Given the description of an element on the screen output the (x, y) to click on. 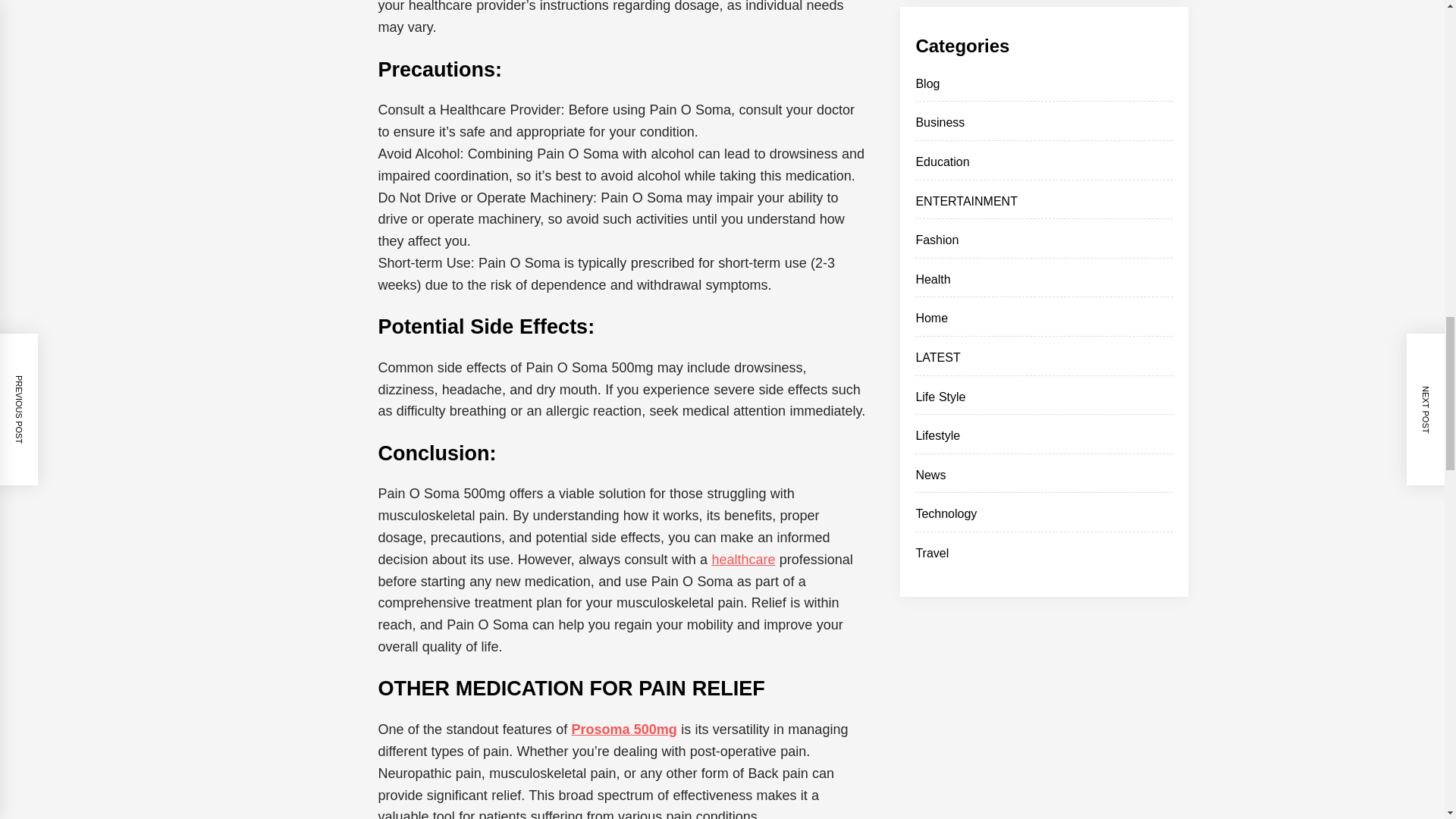
Prosoma 500mg (623, 729)
healthcare (742, 559)
